Given the description of an element on the screen output the (x, y) to click on. 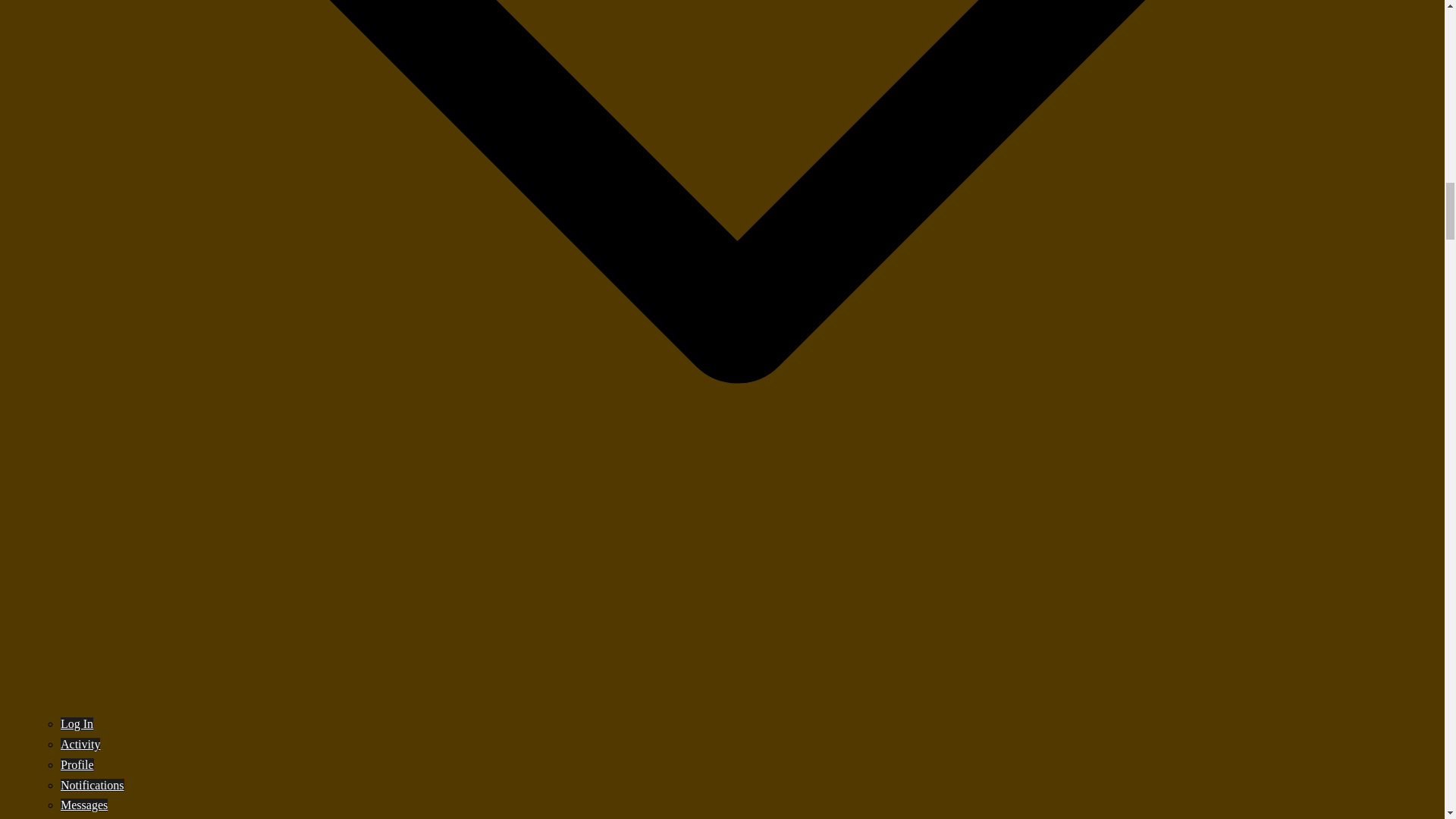
Notifications (92, 784)
Profile (77, 764)
Activity (80, 744)
Log In (77, 723)
Messages (84, 804)
